Given the description of an element on the screen output the (x, y) to click on. 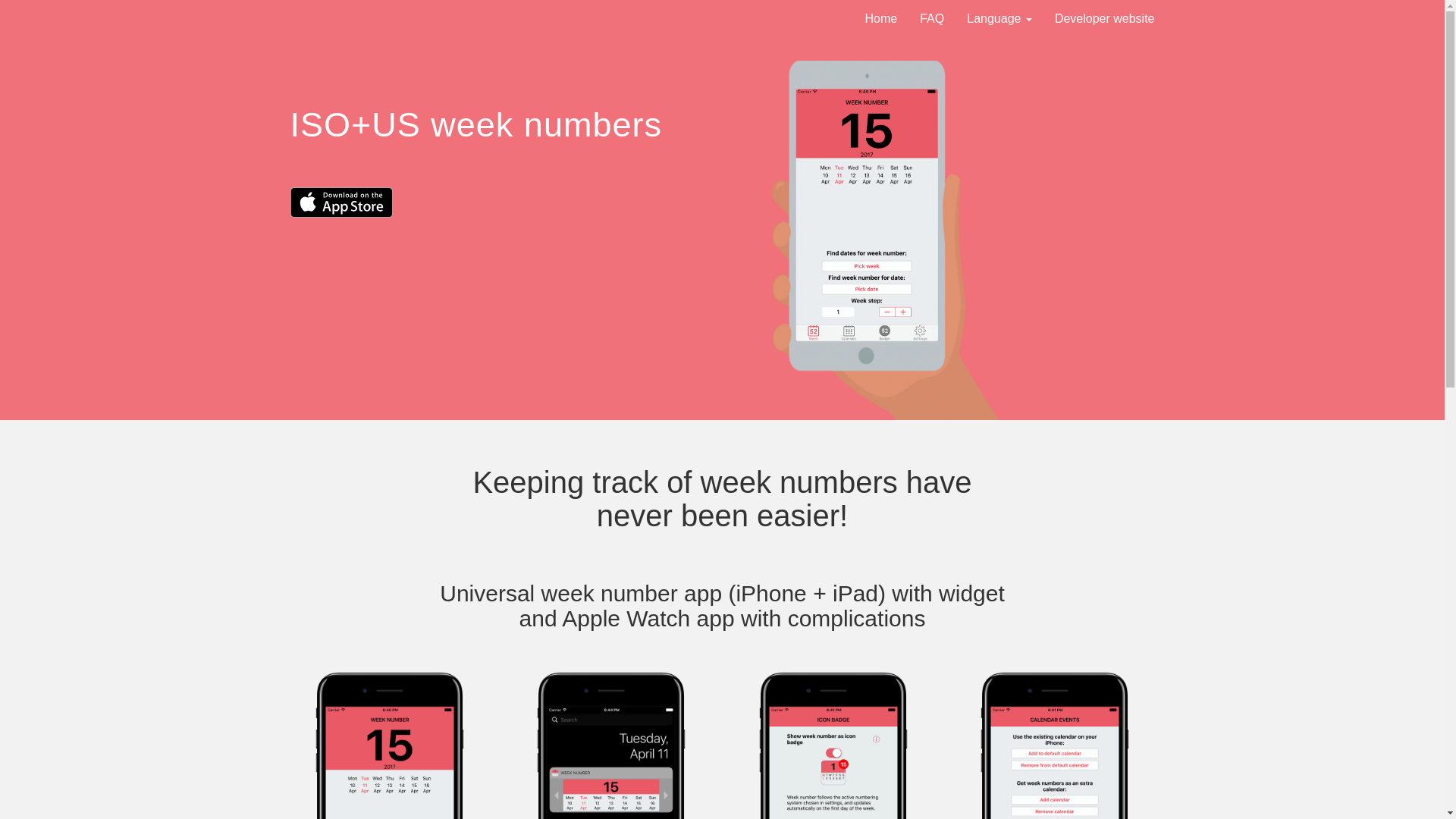
Developer website (1104, 18)
Language (999, 18)
FAQ (931, 18)
Home (880, 18)
